Given the description of an element on the screen output the (x, y) to click on. 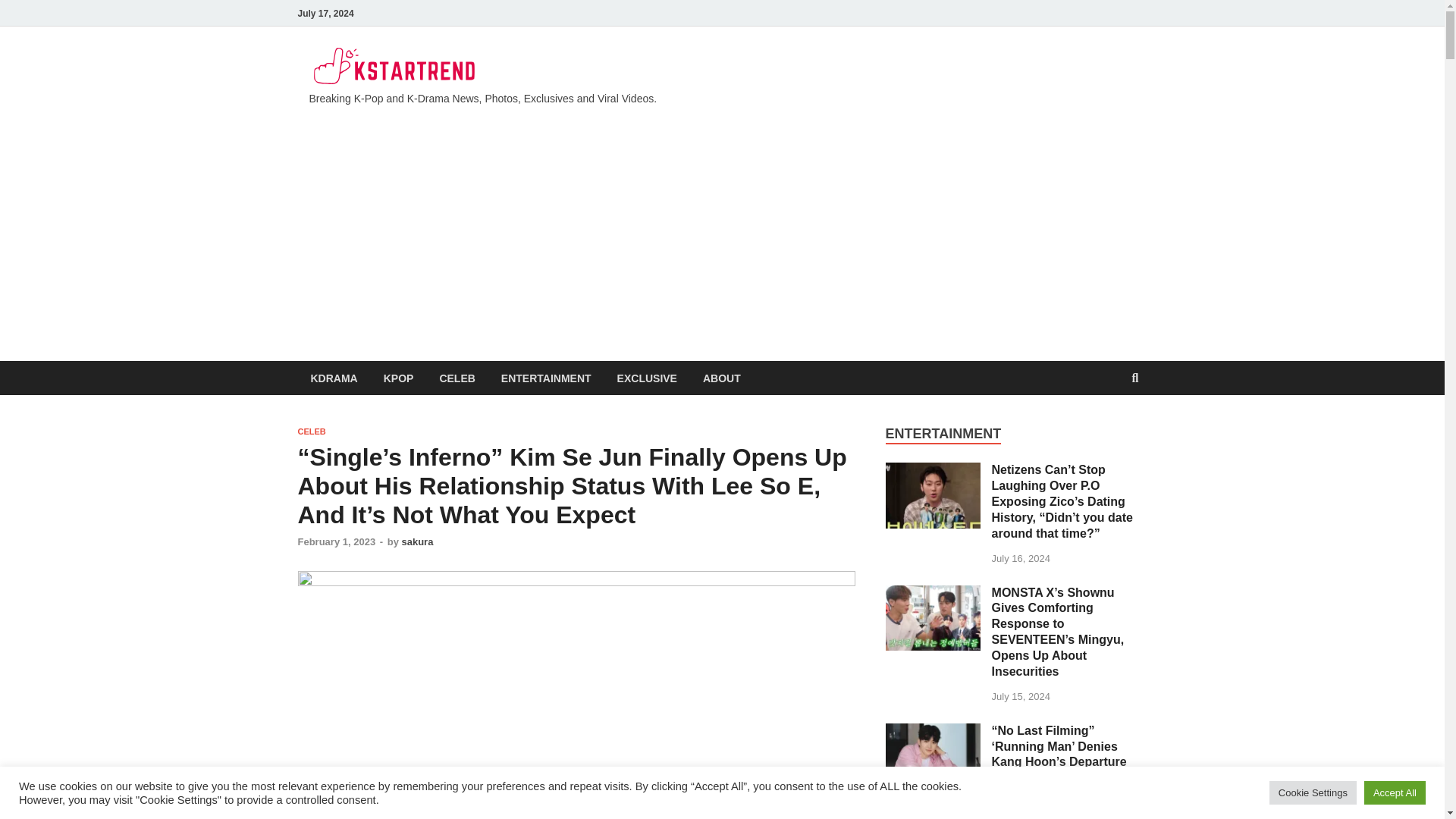
CELEB (310, 430)
EXCLUSIVE (647, 377)
February 1, 2023 (336, 541)
sakura (416, 541)
KPOP (398, 377)
CELEB (456, 377)
ENTERTAINMENT (545, 377)
KDRAMA (333, 377)
ABOUT (722, 377)
